Given the description of an element on the screen output the (x, y) to click on. 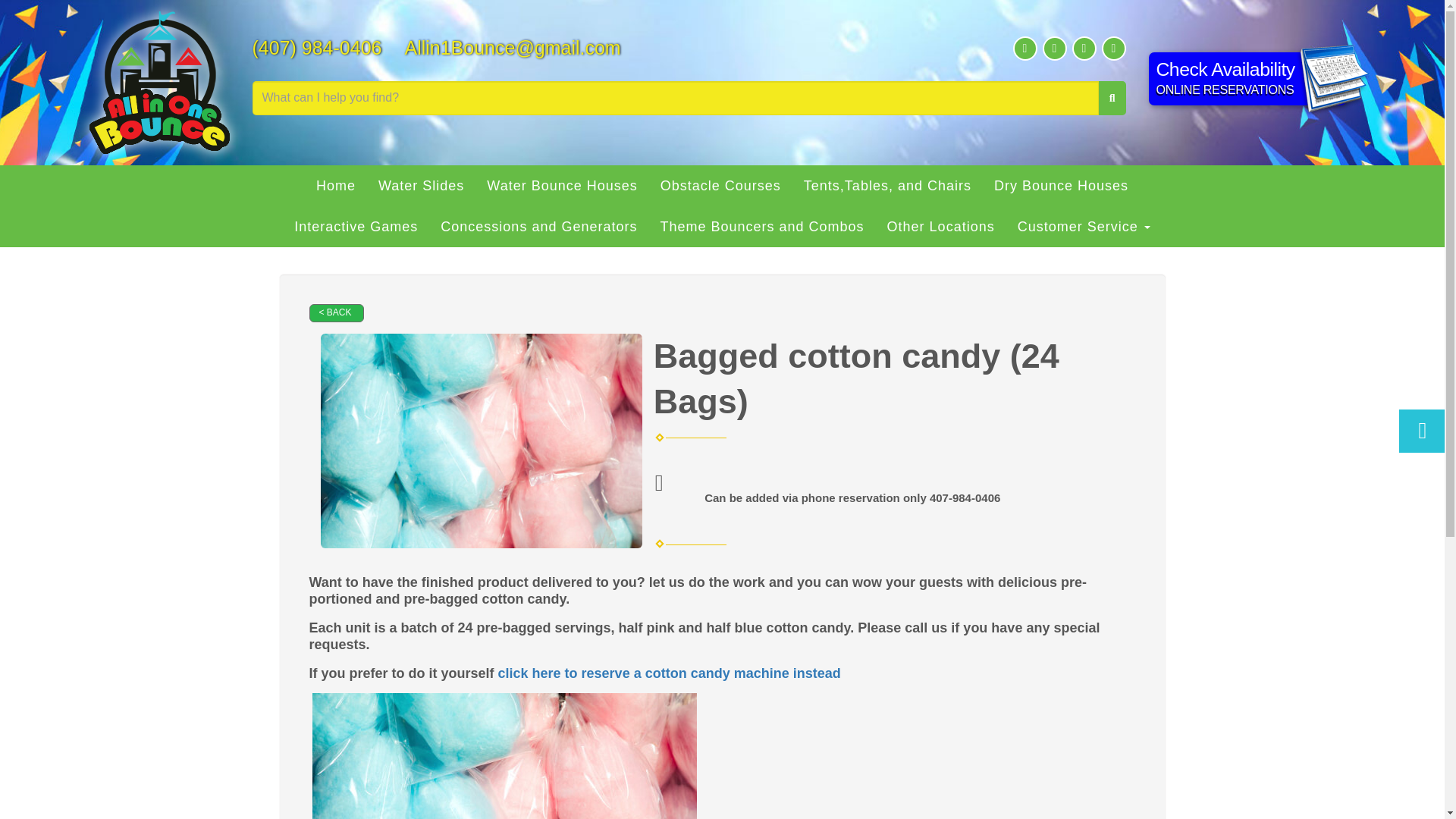
Customer Service (1083, 226)
click here to reserve a cotton candy machine instead (669, 672)
Concessions and Generators (1246, 78)
Tents,Tables, and Chairs (538, 226)
Water Bounce Houses (887, 185)
Theme Bouncers and Combos (561, 185)
Pre-bagged cotton candy (761, 226)
Home (481, 440)
Obstacle Courses (335, 185)
